Given the description of an element on the screen output the (x, y) to click on. 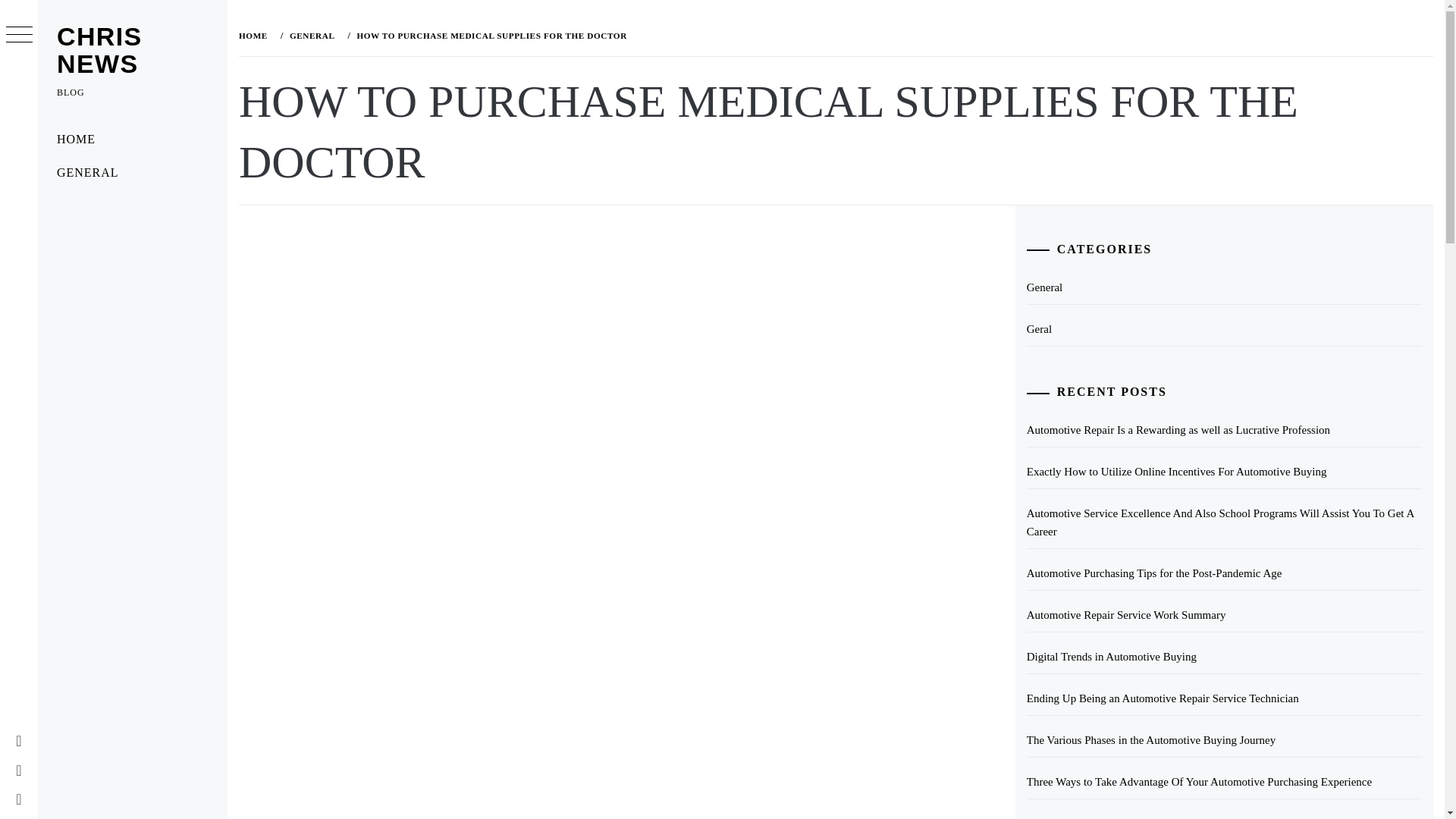
GENERAL (132, 172)
General (1224, 287)
Geral (1224, 329)
GENERAL (310, 35)
Automotive Repair Service Work Summary (1224, 615)
Digital Trends in Automotive Buying (1224, 656)
HOW TO PURCHASE MEDICAL SUPPLIES FOR THE DOCTOR (489, 35)
Automotive Purchasing Tips for the Post-Pandemic Age (1224, 573)
